Given the description of an element on the screen output the (x, y) to click on. 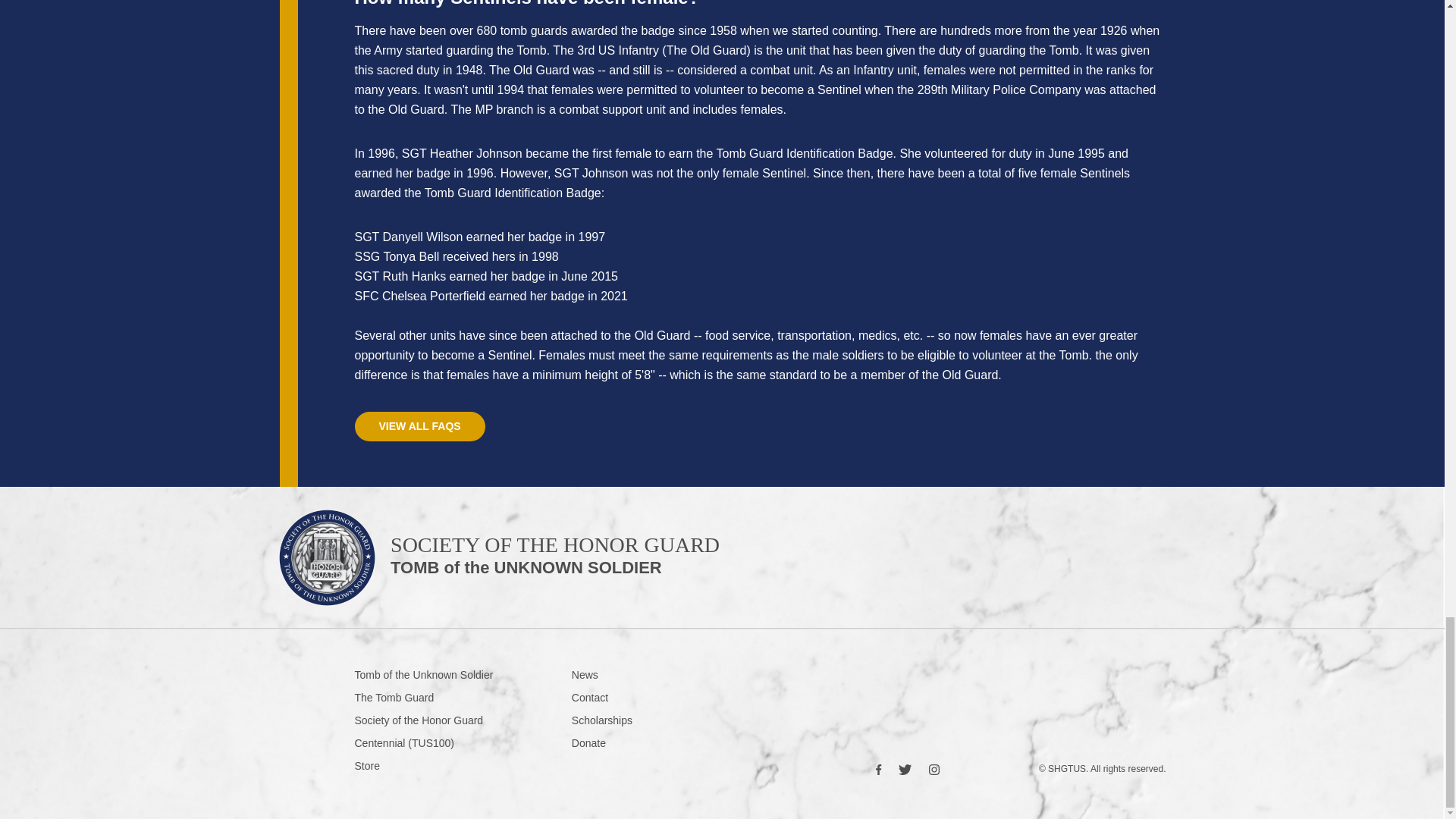
News (641, 674)
Contact (641, 697)
Scholarships (499, 562)
VIEW ALL FAQS (641, 720)
Society of the Honor Guard (419, 426)
Donate (463, 720)
The Tomb Guard (641, 743)
Store (463, 697)
Tomb of the Unknown Soldier (463, 765)
